Given the description of an element on the screen output the (x, y) to click on. 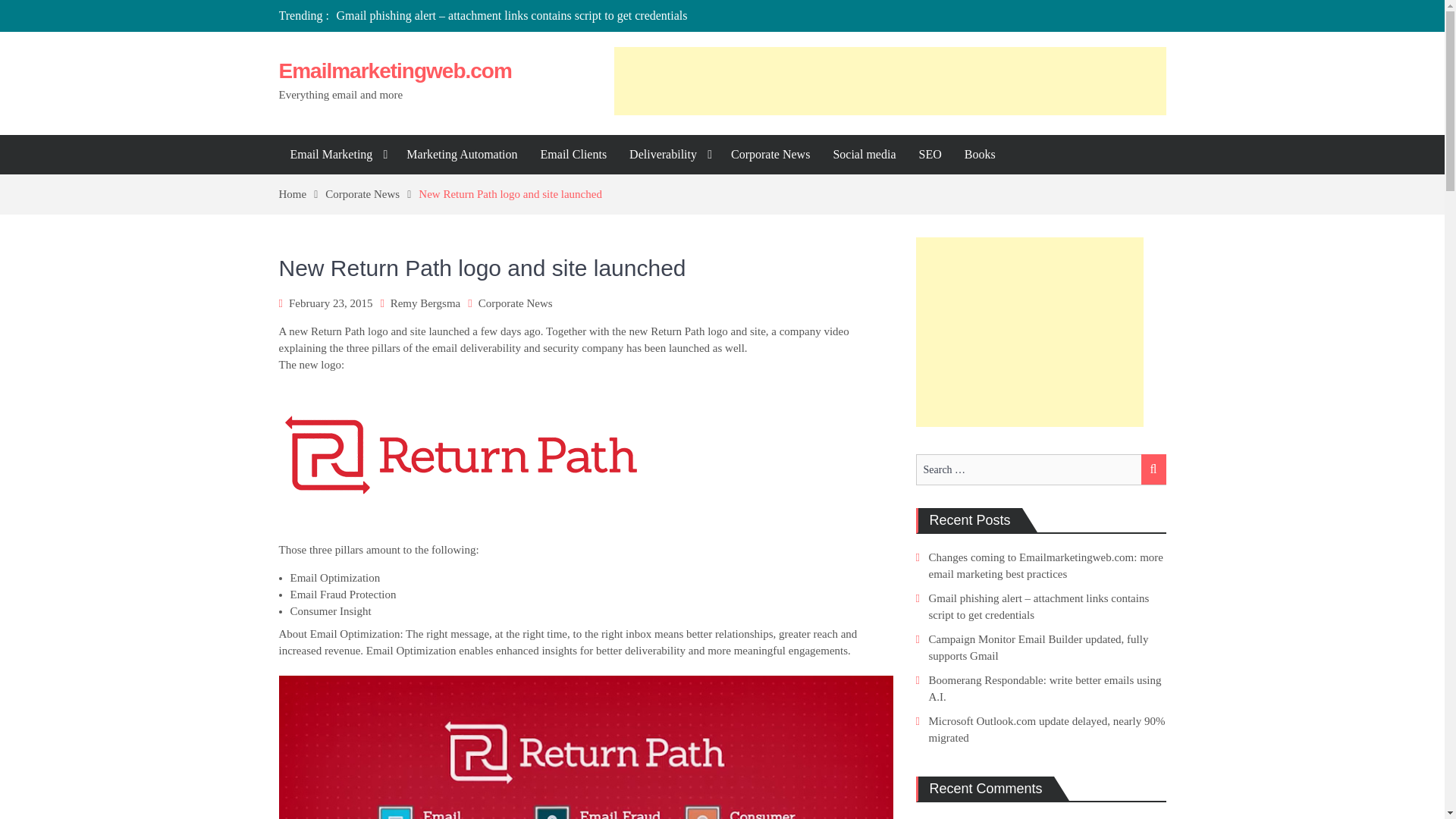
Corporate News (516, 303)
Remy Bergsma (425, 303)
Corporate News (371, 193)
Deliverability (668, 154)
Home (302, 193)
SEO (929, 154)
Marketing Automation (461, 154)
Corporate News (770, 154)
Email Clients (573, 154)
Advertisement (1028, 331)
